Given the description of an element on the screen output the (x, y) to click on. 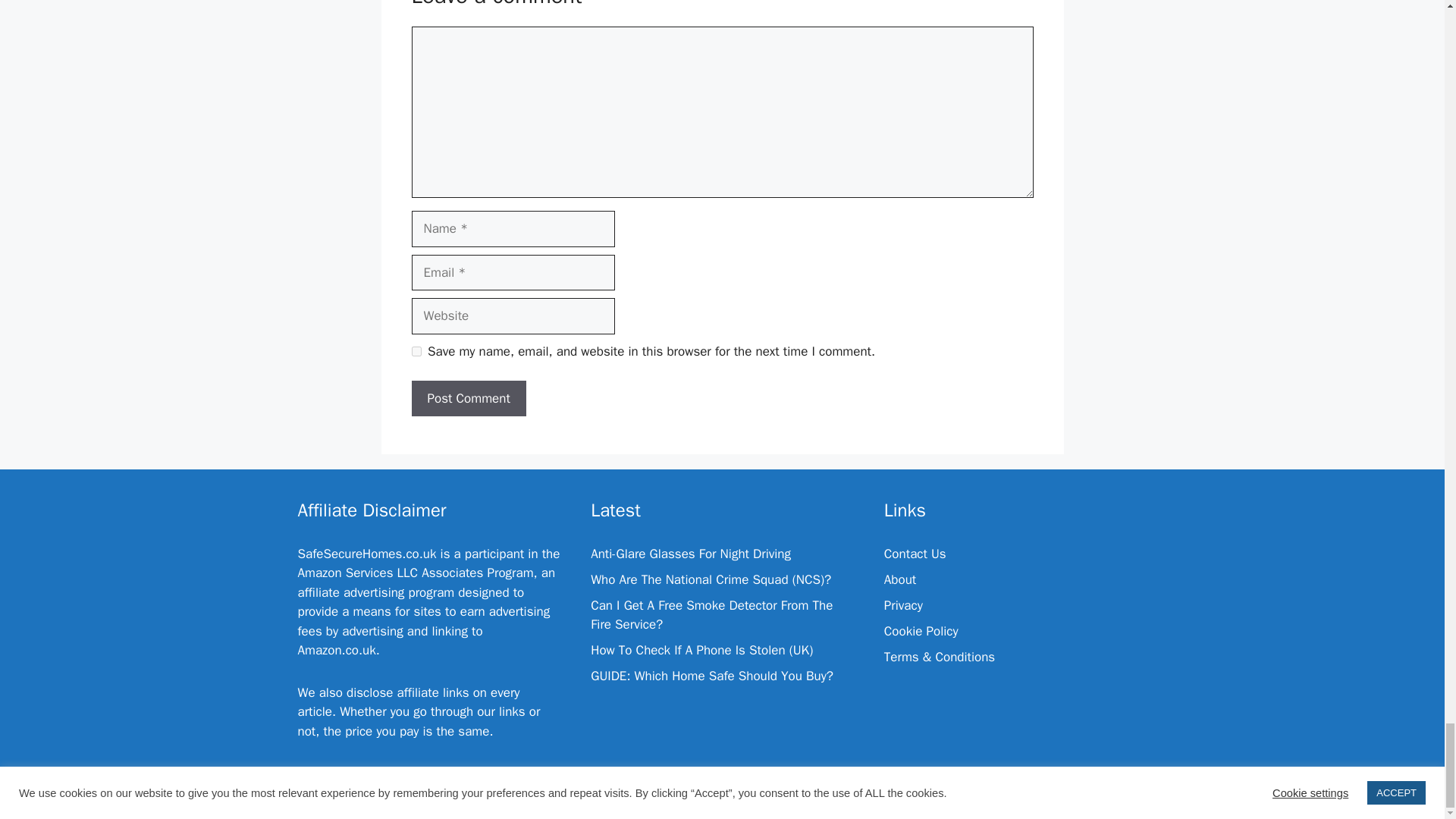
yes (415, 351)
Post Comment (467, 398)
